Given the description of an element on the screen output the (x, y) to click on. 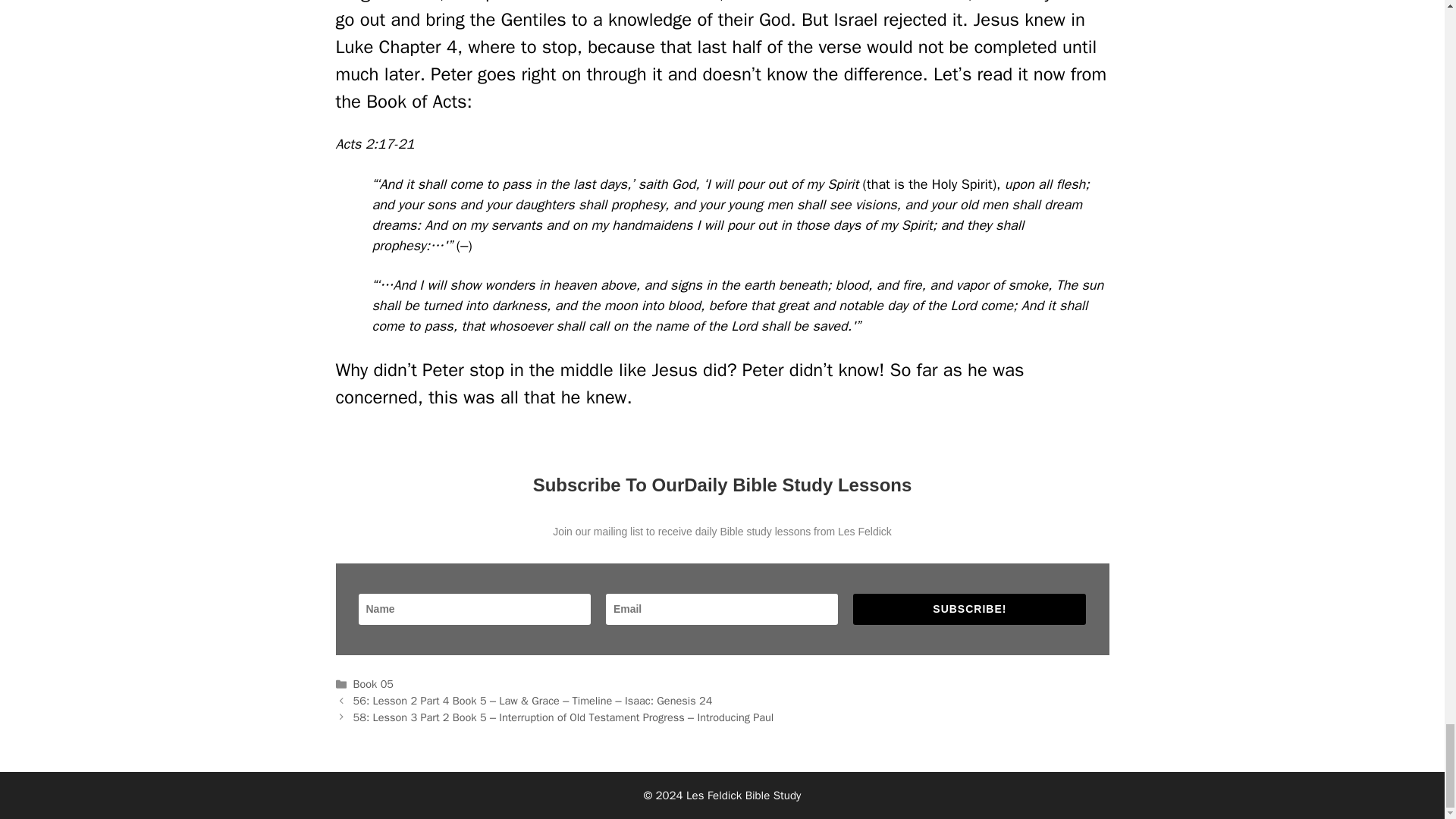
Previous (533, 700)
Next (563, 716)
Book 05 (373, 684)
SUBSCRIBE! (969, 608)
